Given the description of an element on the screen output the (x, y) to click on. 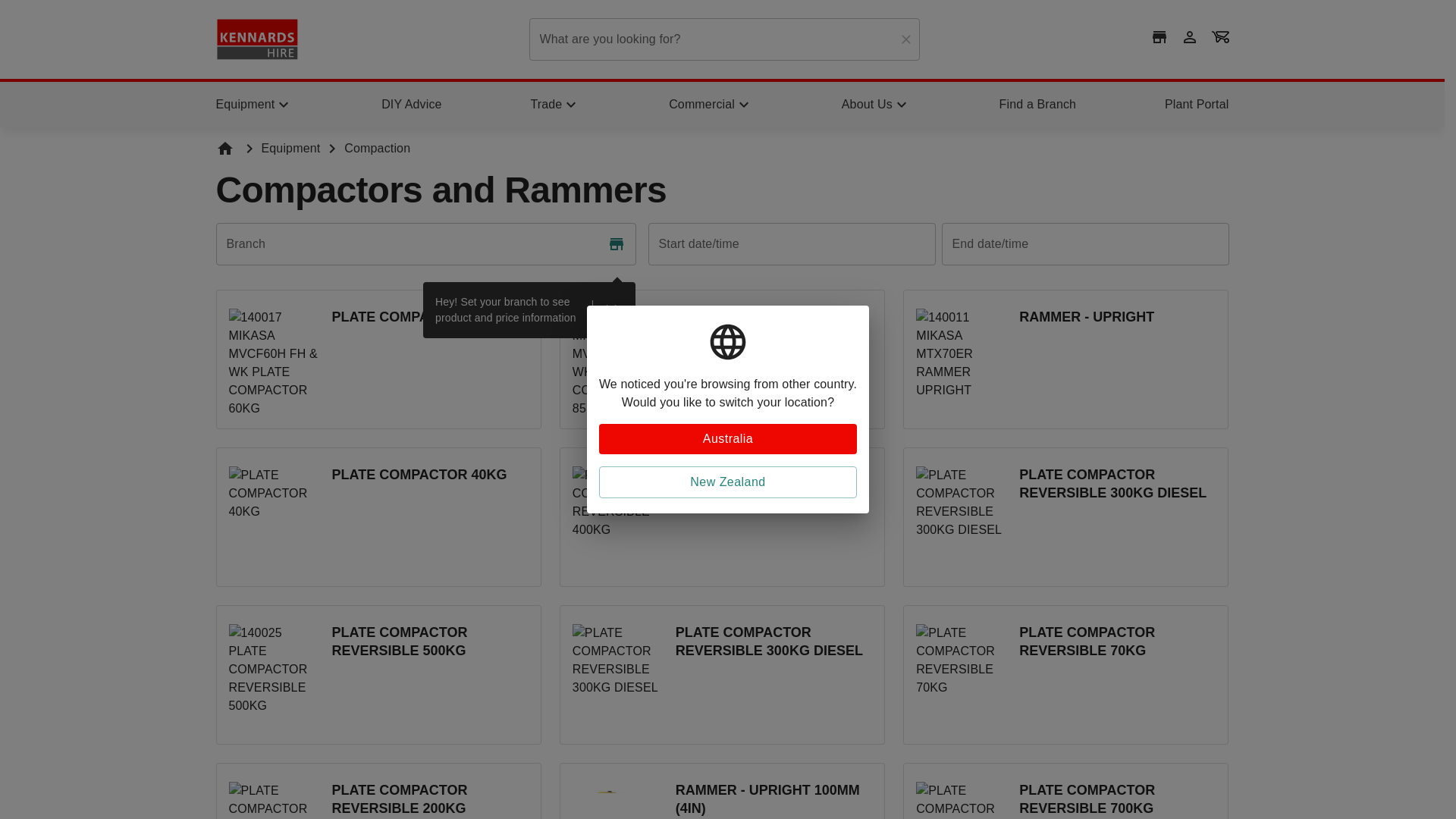
Equipment (290, 147)
RAMMER - UPRIGHT (1065, 359)
PLATE COMPACTOR REVERSIBLE 300KG DIESEL (721, 674)
PLATE COMPACTOR 60KG (378, 359)
PLATE COMPACTOR REVERSIBLE 500KG (378, 674)
Plant Portal (1196, 104)
PLATE COMPACTOR REVERSIBLE 70KG (1065, 674)
Compaction (376, 147)
PLATE COMPACTOR 85KG (721, 359)
PLATE COMPACTOR 40KG (378, 516)
